Given the description of an element on the screen output the (x, y) to click on. 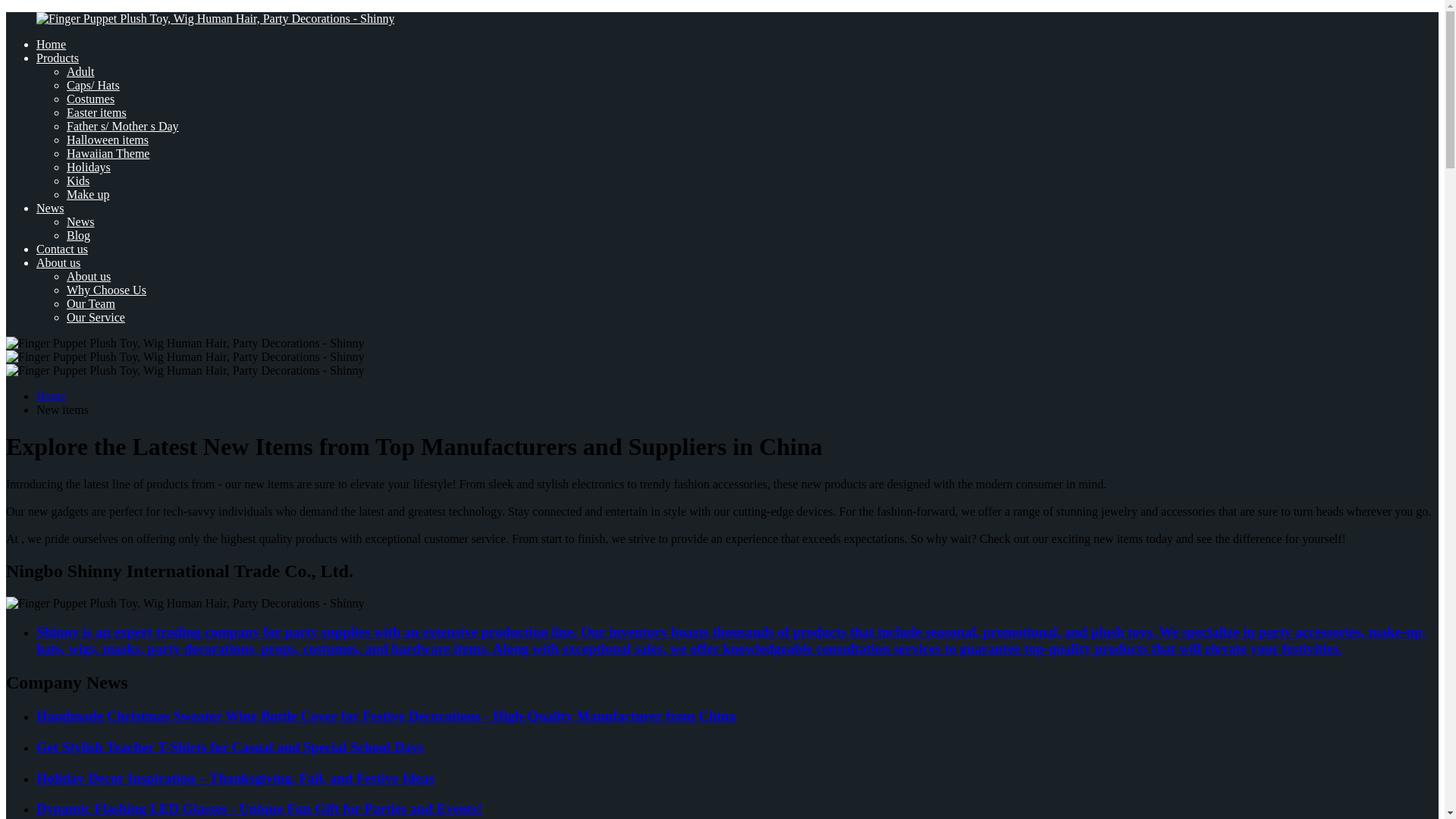
Holidays (88, 166)
Costumes (90, 98)
Products (57, 57)
Make up (87, 194)
Home (50, 43)
News (80, 221)
Home (50, 395)
Why Choose Us (106, 289)
Halloween items (107, 139)
Kids (77, 180)
About us (58, 262)
Contact us (61, 248)
Hawaiian Theme (107, 153)
Adult (80, 71)
Easter items (96, 112)
